Given the description of an element on the screen output the (x, y) to click on. 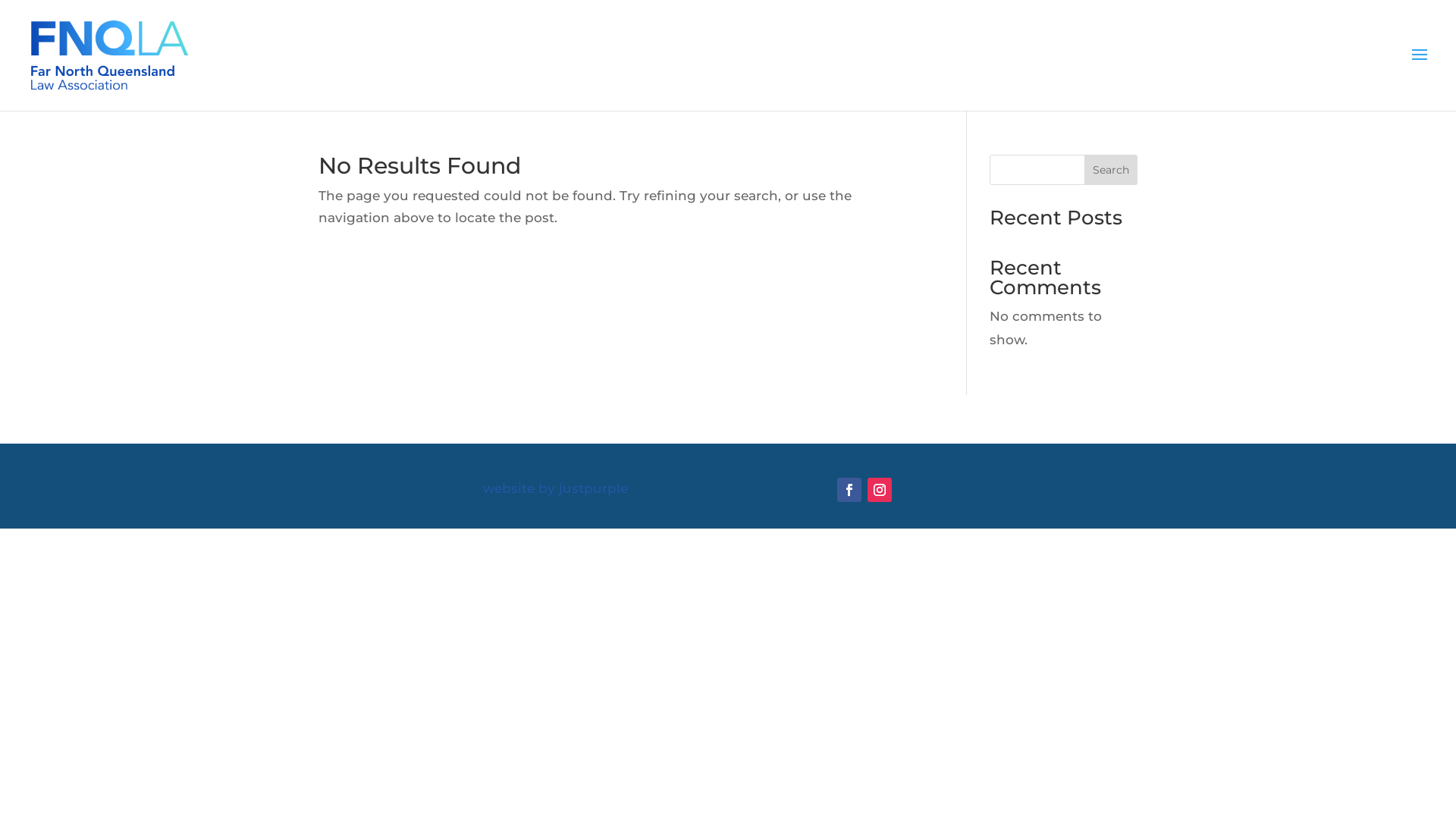
Follow on Facebook Element type: hover (849, 489)
justpurple Element type: text (592, 487)
Search Element type: text (1110, 169)
Follow on Instagram Element type: hover (879, 489)
